Given the description of an element on the screen output the (x, y) to click on. 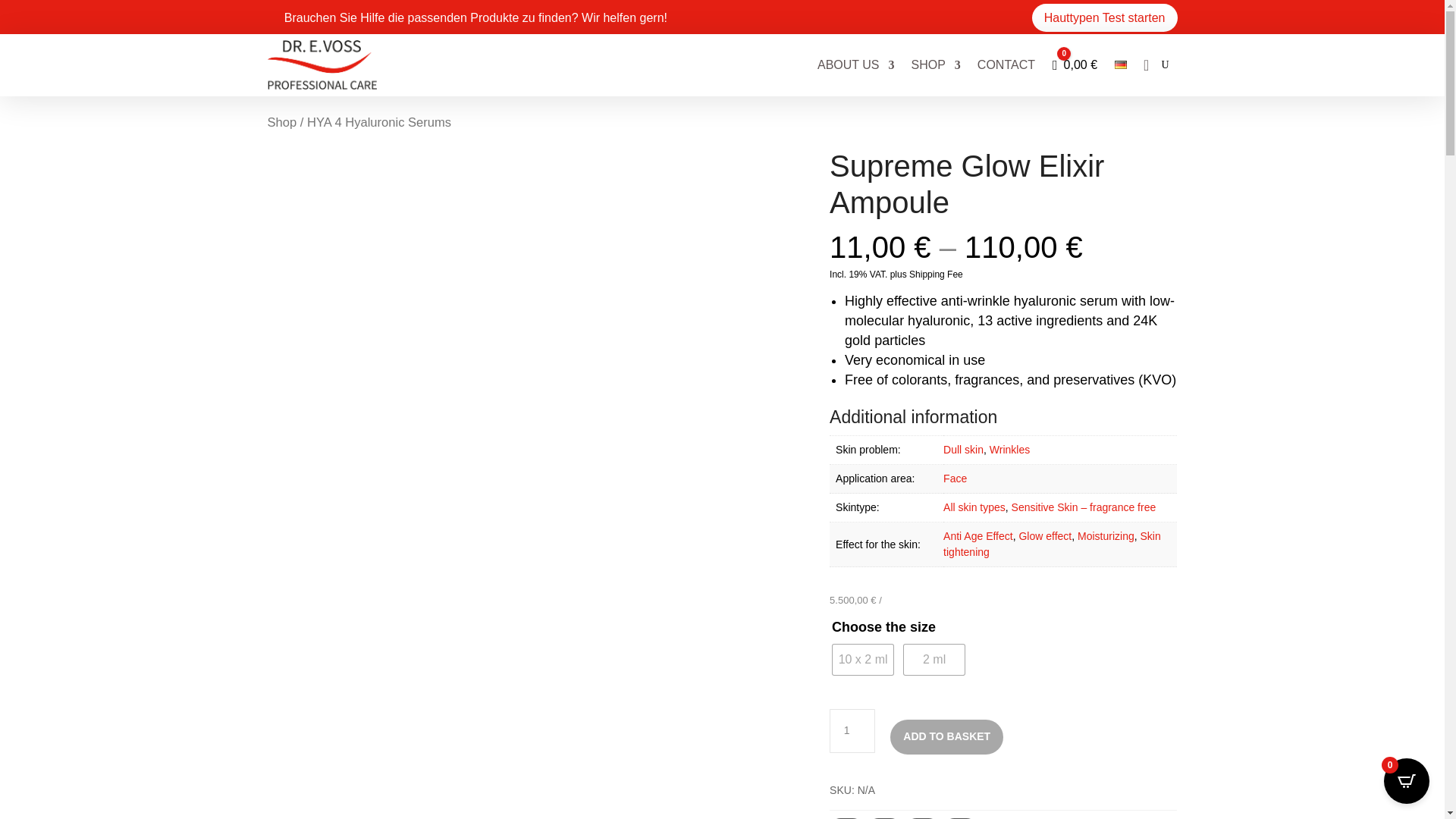
10 x 2 ml (862, 659)
2 ml (933, 659)
1 (852, 730)
Hauttypen Test starten (1104, 17)
ABOUT US (855, 65)
